Given the description of an element on the screen output the (x, y) to click on. 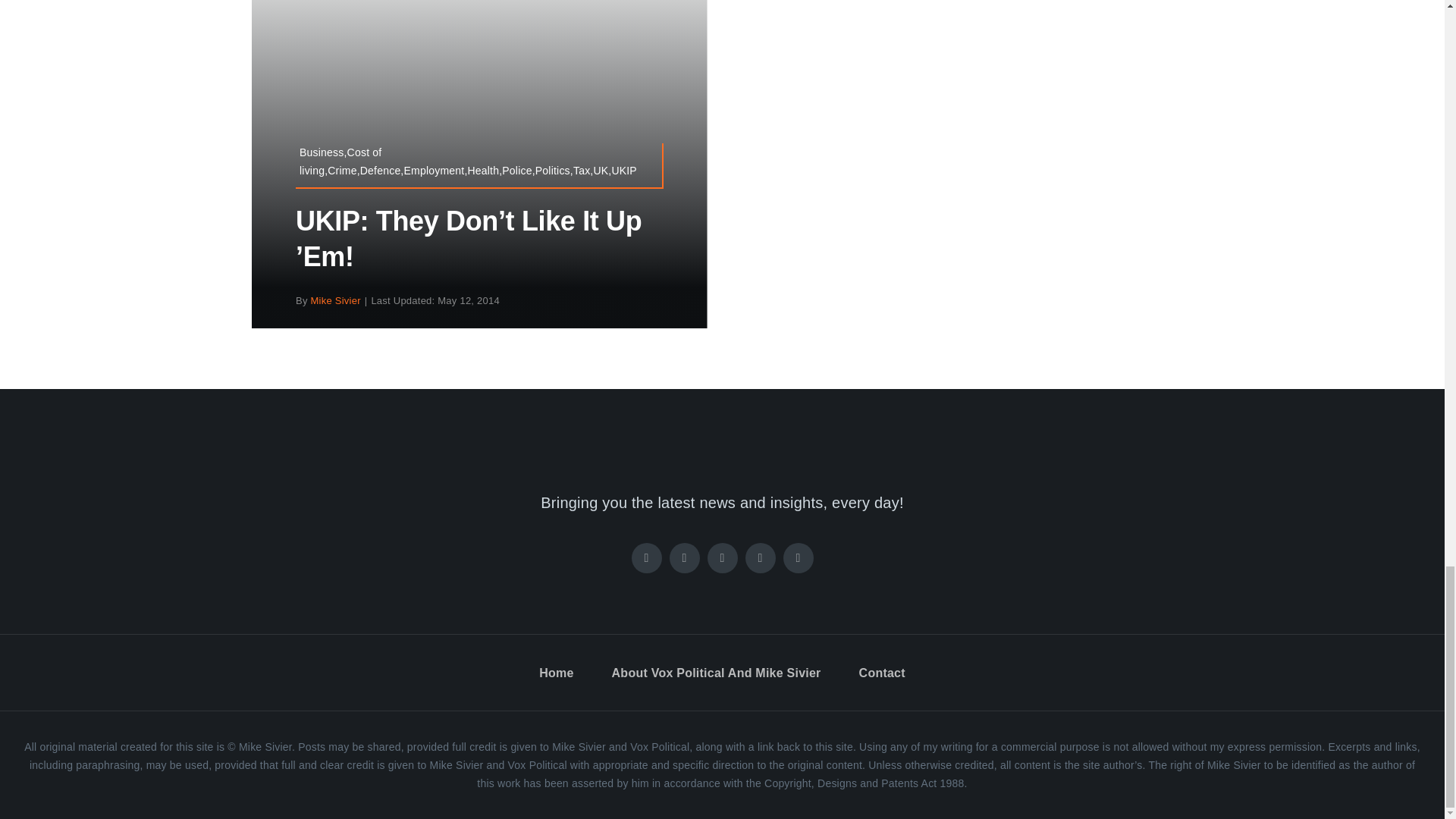
Posts by Mike Sivier (336, 300)
Instagram (721, 557)
Facebook (645, 557)
Mike Sivier (336, 300)
X (683, 557)
Tiktok (759, 557)
